Given the description of an element on the screen output the (x, y) to click on. 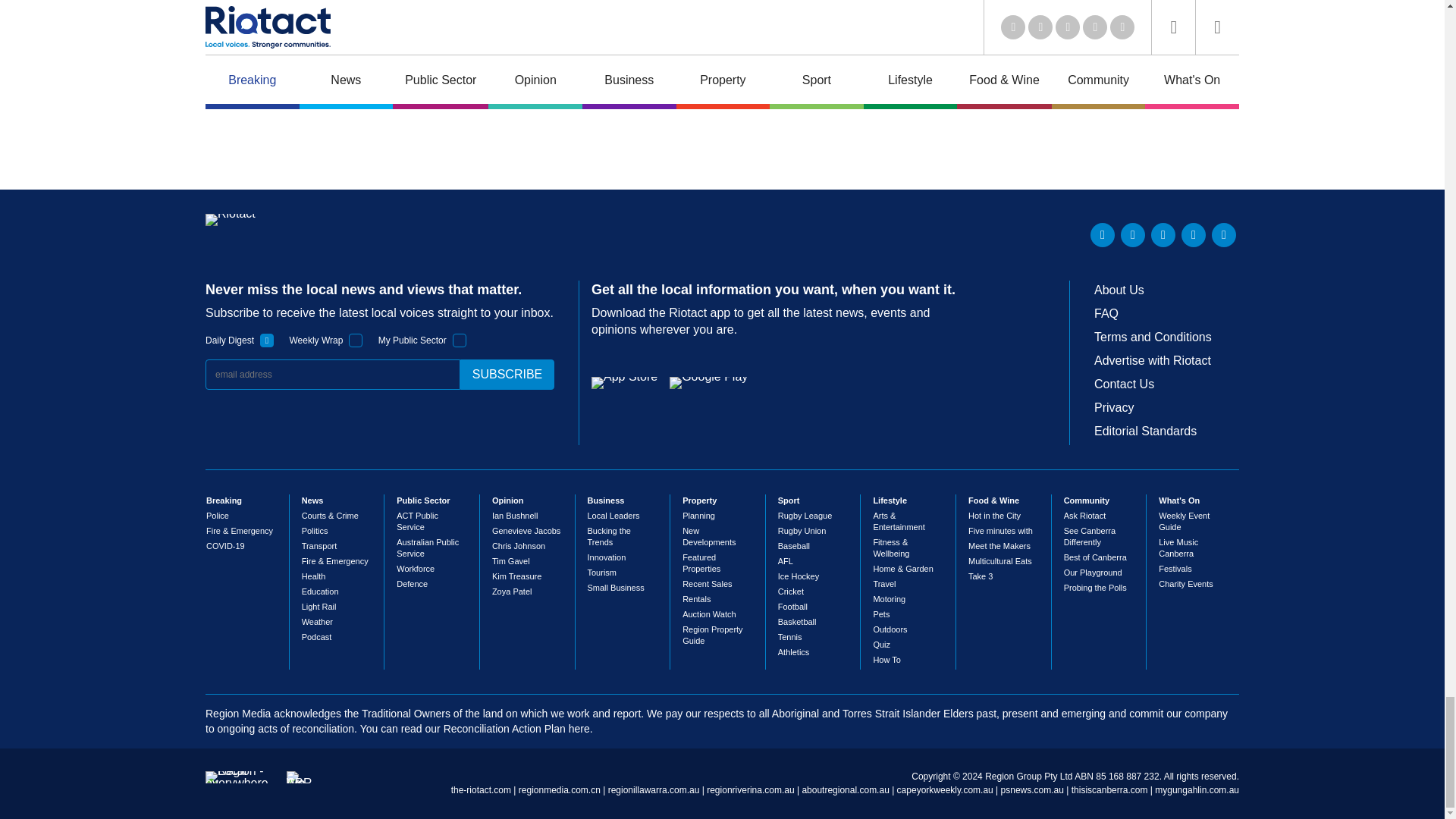
1 (266, 340)
1 (458, 340)
1 (355, 340)
subscribe (507, 374)
